Given the description of an element on the screen output the (x, y) to click on. 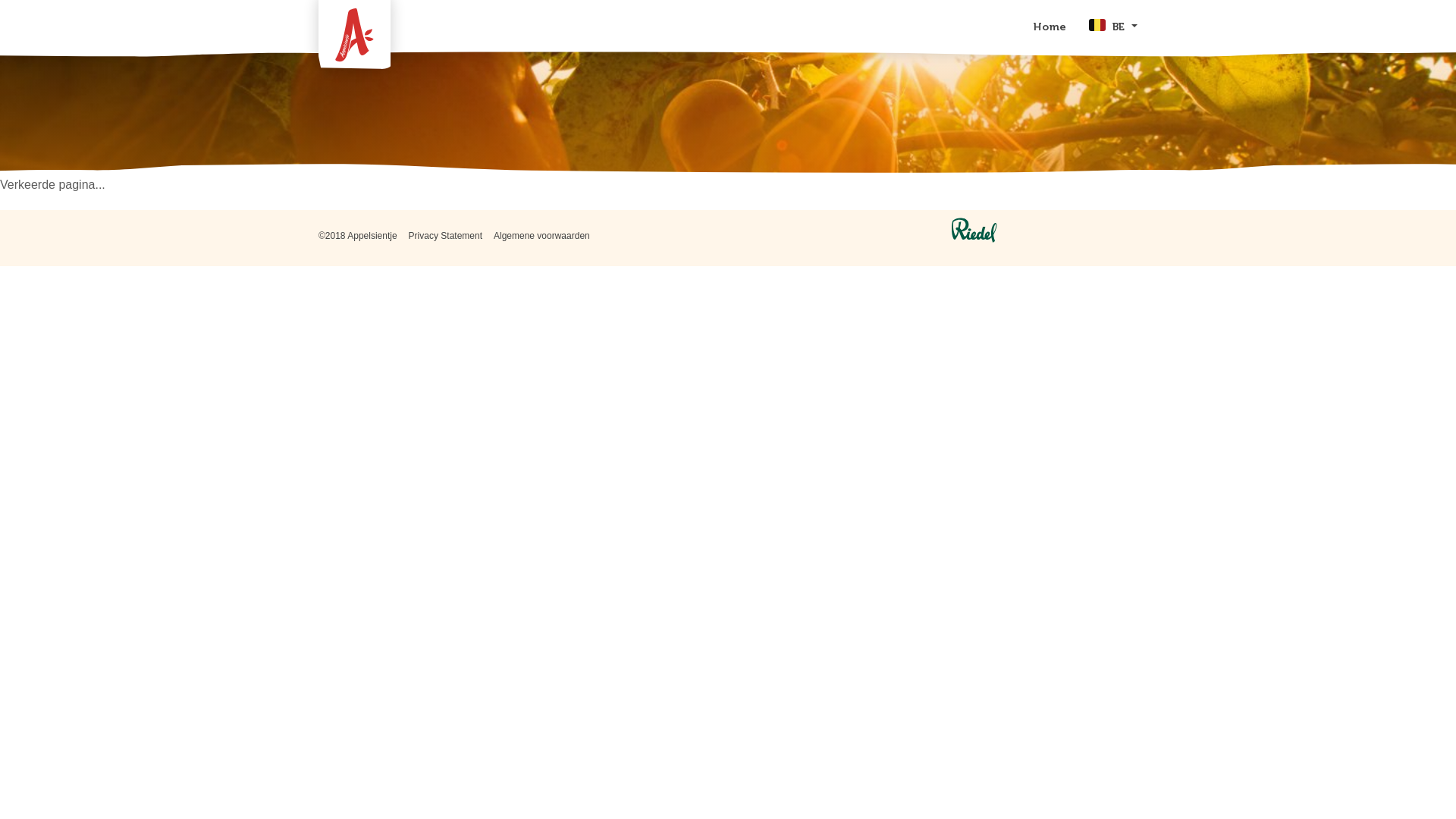
Algemene voorwaarden Element type: text (541, 235)
Home Element type: text (1049, 27)
Privacy Statement Element type: text (445, 235)
